Given the description of an element on the screen output the (x, y) to click on. 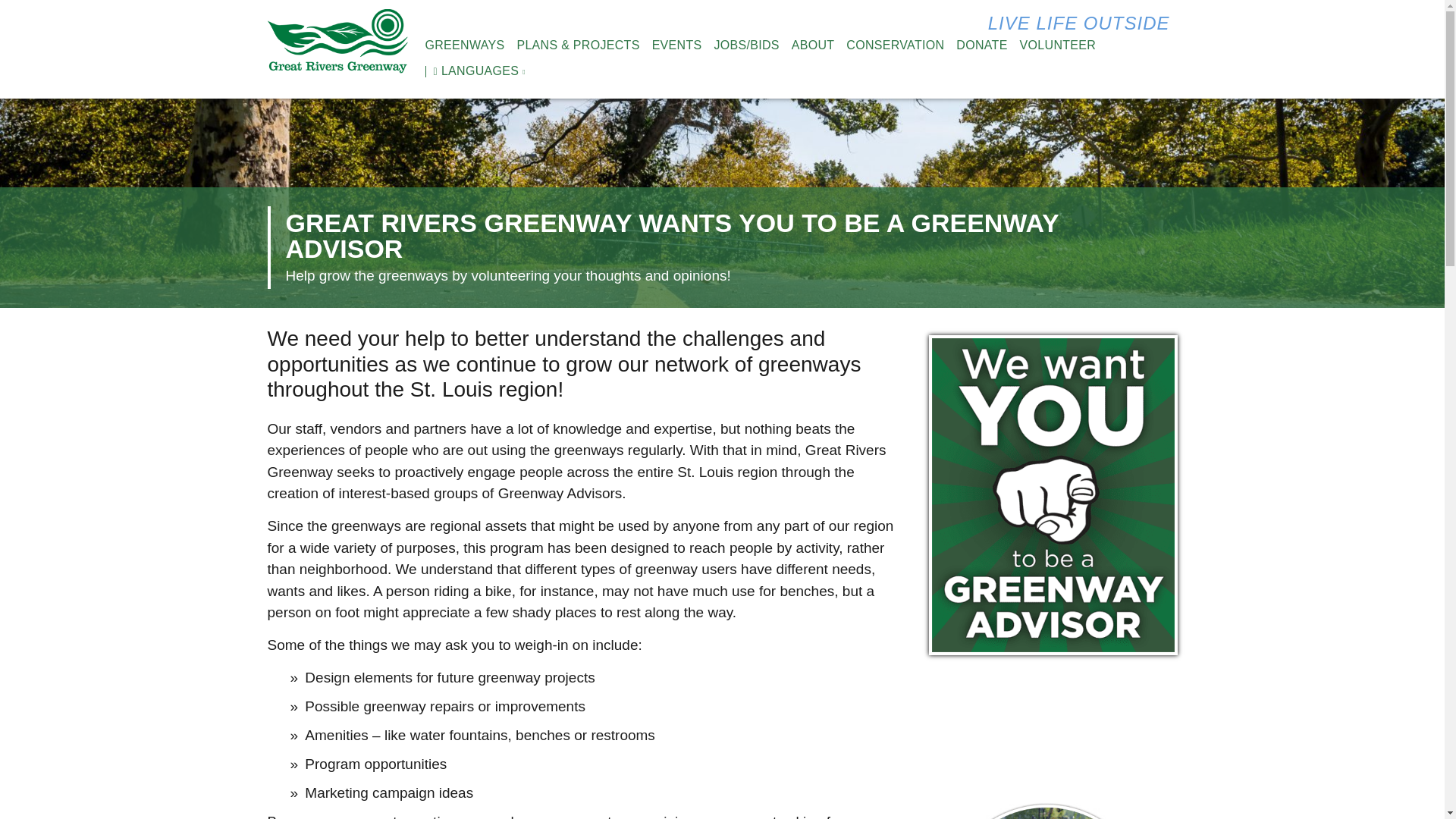
VOLUNTEER (1058, 45)
ABOUT (813, 45)
LANGUAGES (471, 71)
GREENWAYS (464, 45)
CONSERVATION (894, 45)
DONATE (981, 45)
EVENTS (676, 45)
